Given the description of an element on the screen output the (x, y) to click on. 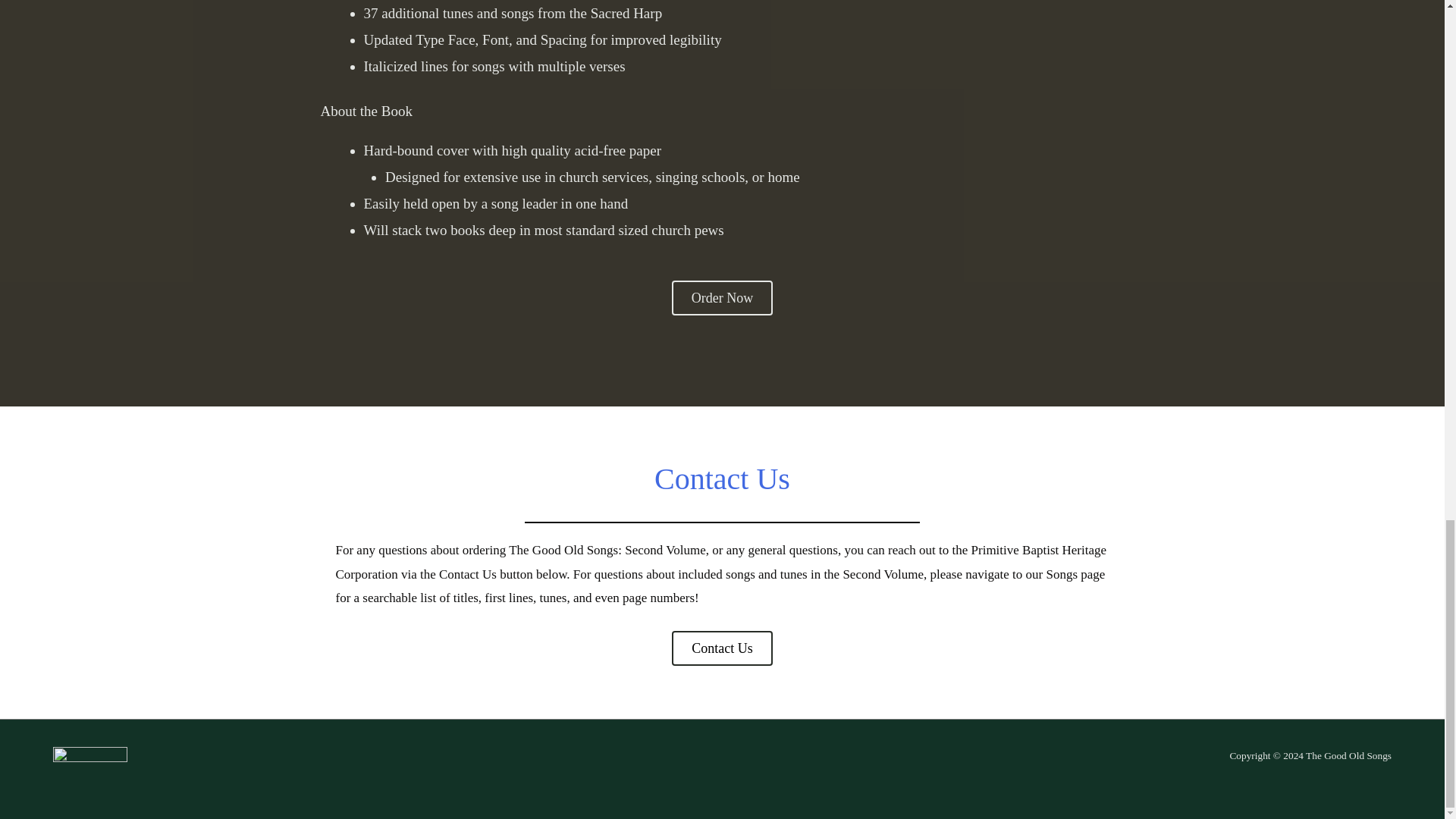
Contact Us (721, 478)
Contact Us (467, 574)
Contact Us (721, 478)
Songs (1061, 574)
Contact Us (722, 647)
Order Now (722, 297)
